Given the description of an element on the screen output the (x, y) to click on. 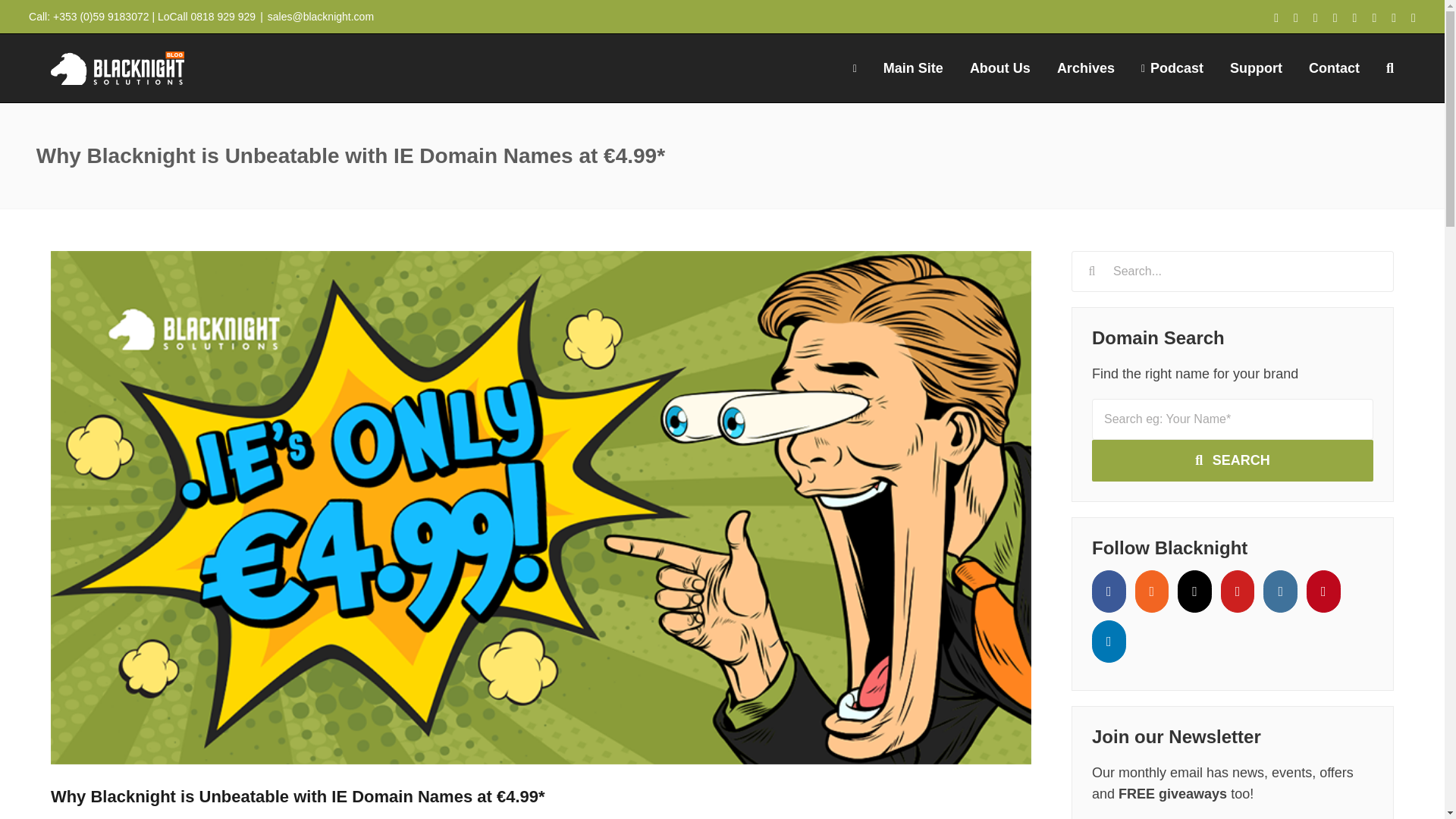
Podcast (1172, 68)
0818 929 929 (223, 16)
Blacknight Podcast (1172, 68)
